Given the description of an element on the screen output the (x, y) to click on. 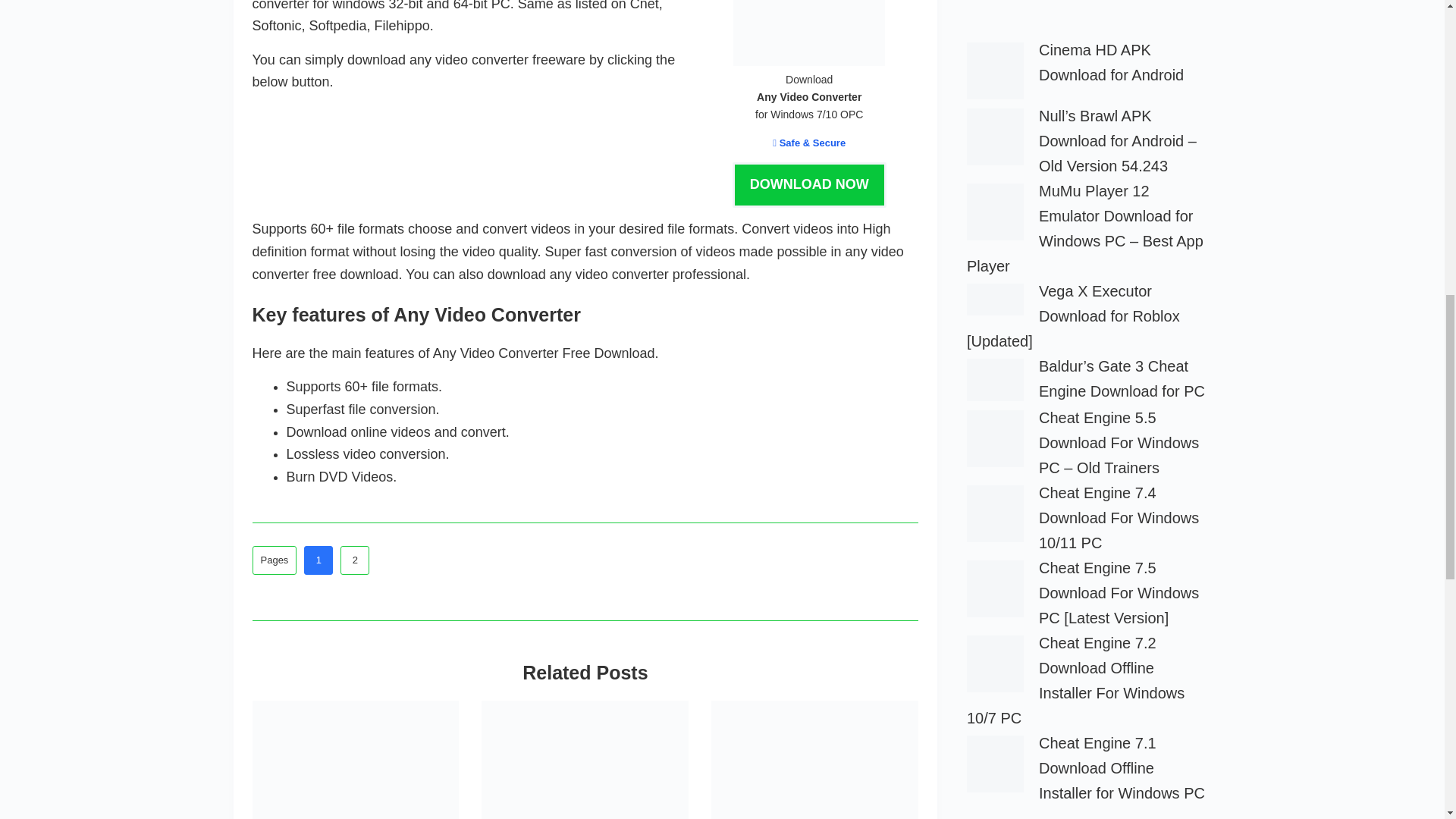
DOWNLOAD NOW (809, 185)
2 (354, 560)
